Given the description of an element on the screen output the (x, y) to click on. 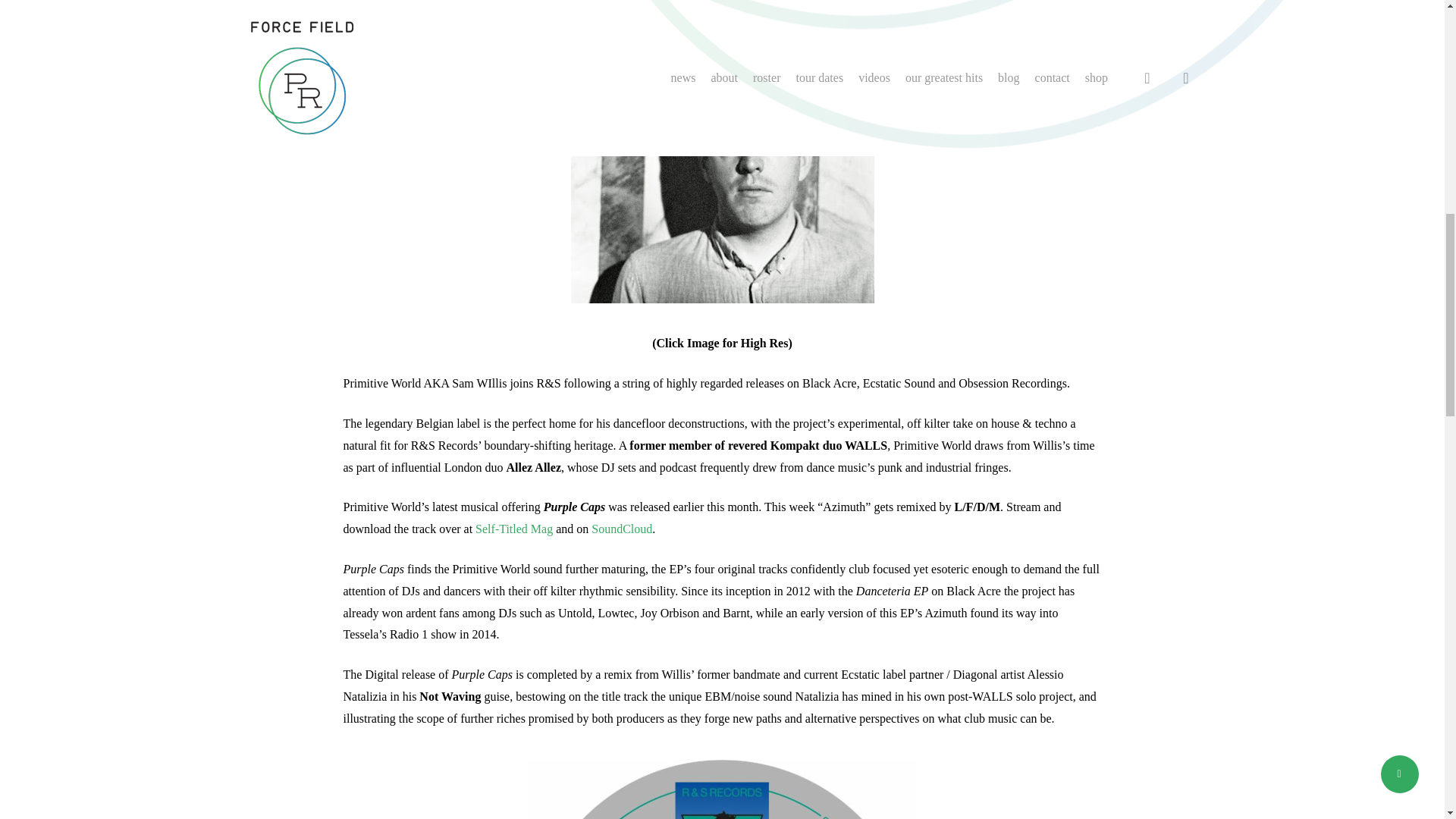
SoundCloud (621, 528)
Self-Titled Mag (514, 528)
